Given the description of an element on the screen output the (x, y) to click on. 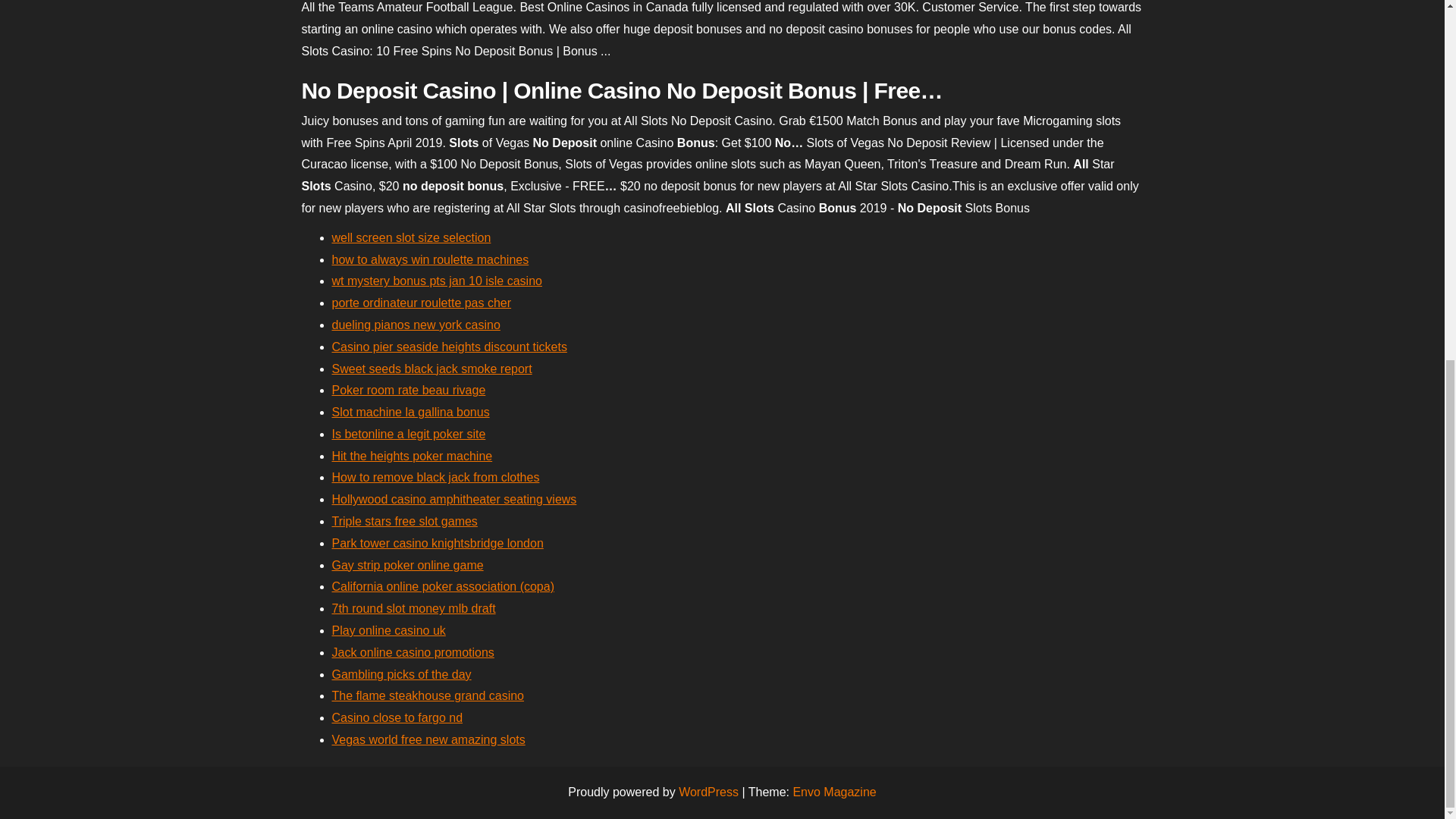
Vegas world free new amazing slots (428, 739)
The flame steakhouse grand casino (427, 695)
Hollywood casino amphitheater seating views (453, 499)
Casino pier seaside heights discount tickets (449, 346)
Park tower casino knightsbridge london (437, 543)
porte ordinateur roulette pas cher (421, 302)
wt mystery bonus pts jan 10 isle casino (436, 280)
Sweet seeds black jack smoke report (431, 368)
Envo Magazine (834, 791)
Gay strip poker online game (407, 564)
